Given the description of an element on the screen output the (x, y) to click on. 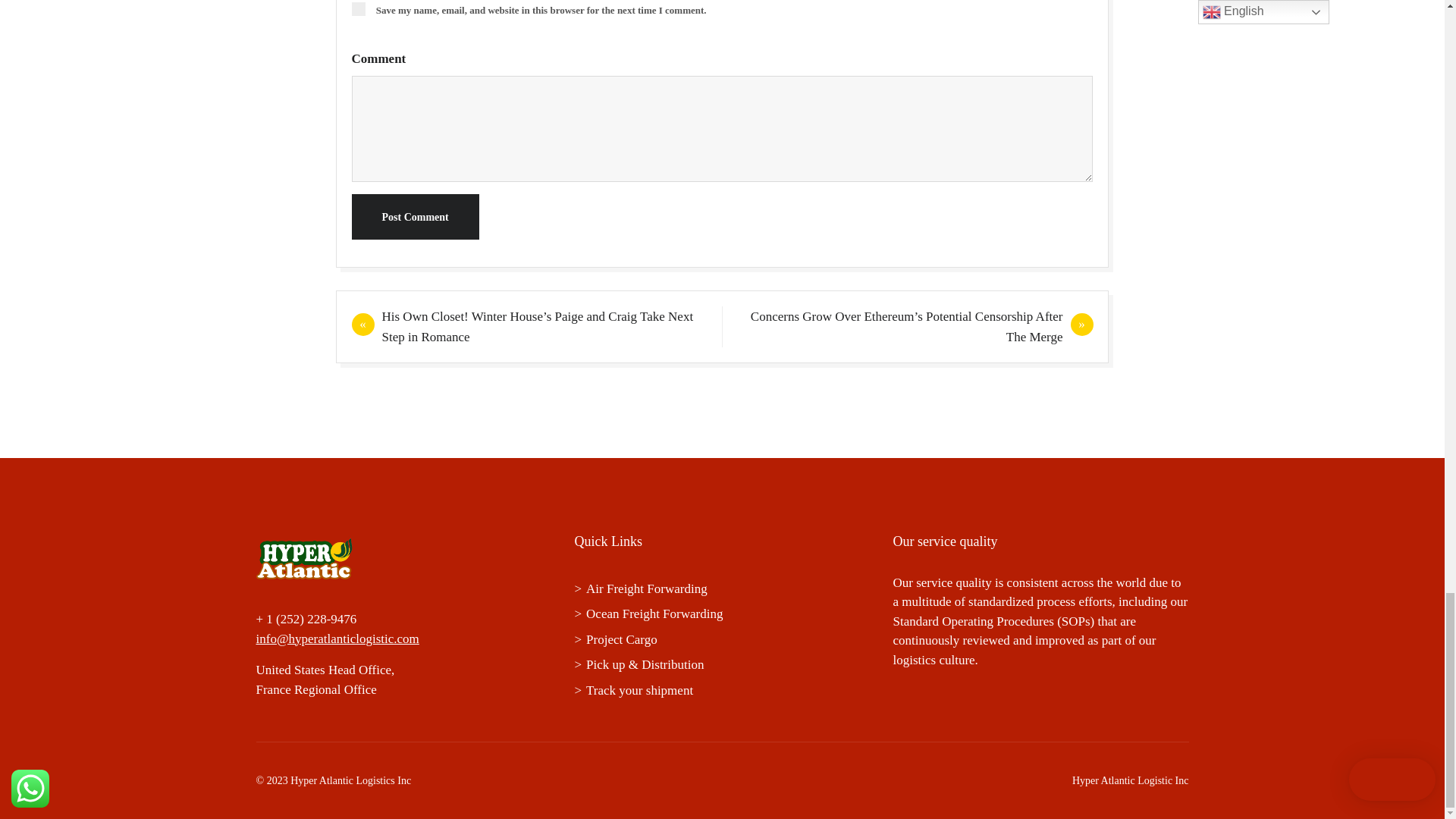
yes (358, 8)
